Given the description of an element on the screen output the (x, y) to click on. 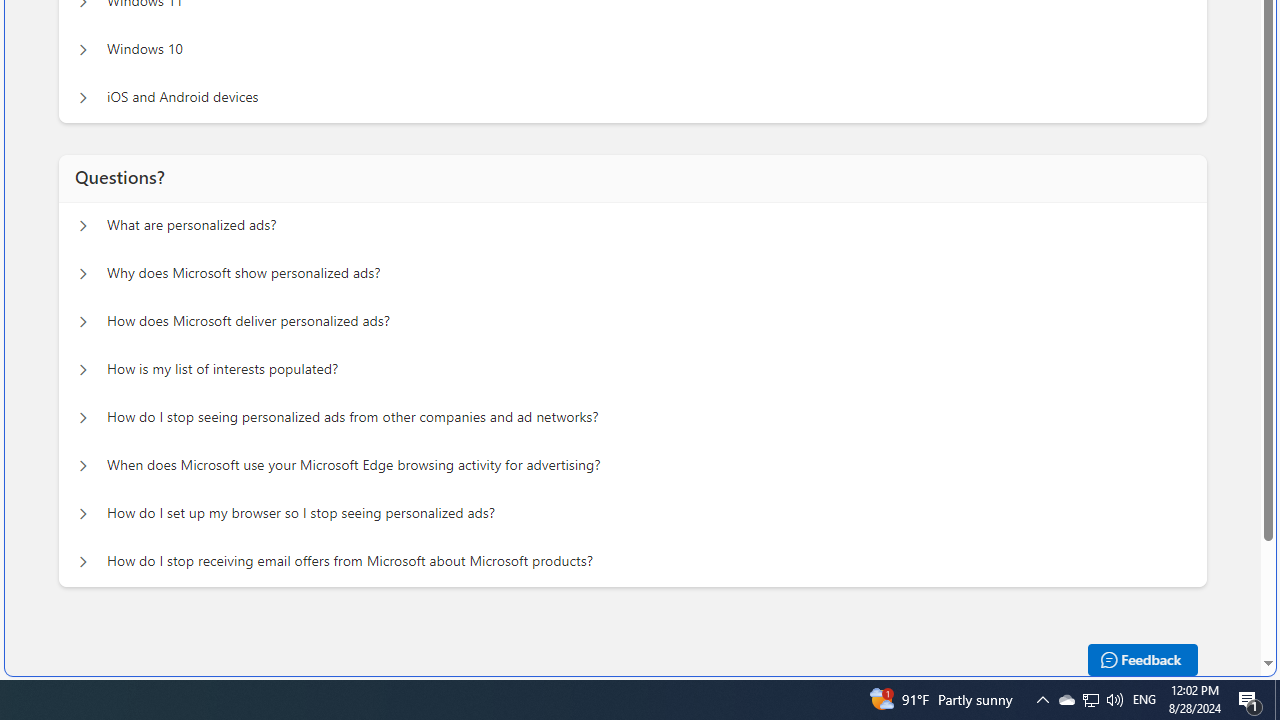
Questions? Why does Microsoft show personalized ads? (82, 273)
Manage personalized ads on your device Windows 10 (82, 49)
Questions? How is my list of interests populated? (82, 370)
Questions? How does Microsoft deliver personalized ads? (82, 322)
